Given the description of an element on the screen output the (x, y) to click on. 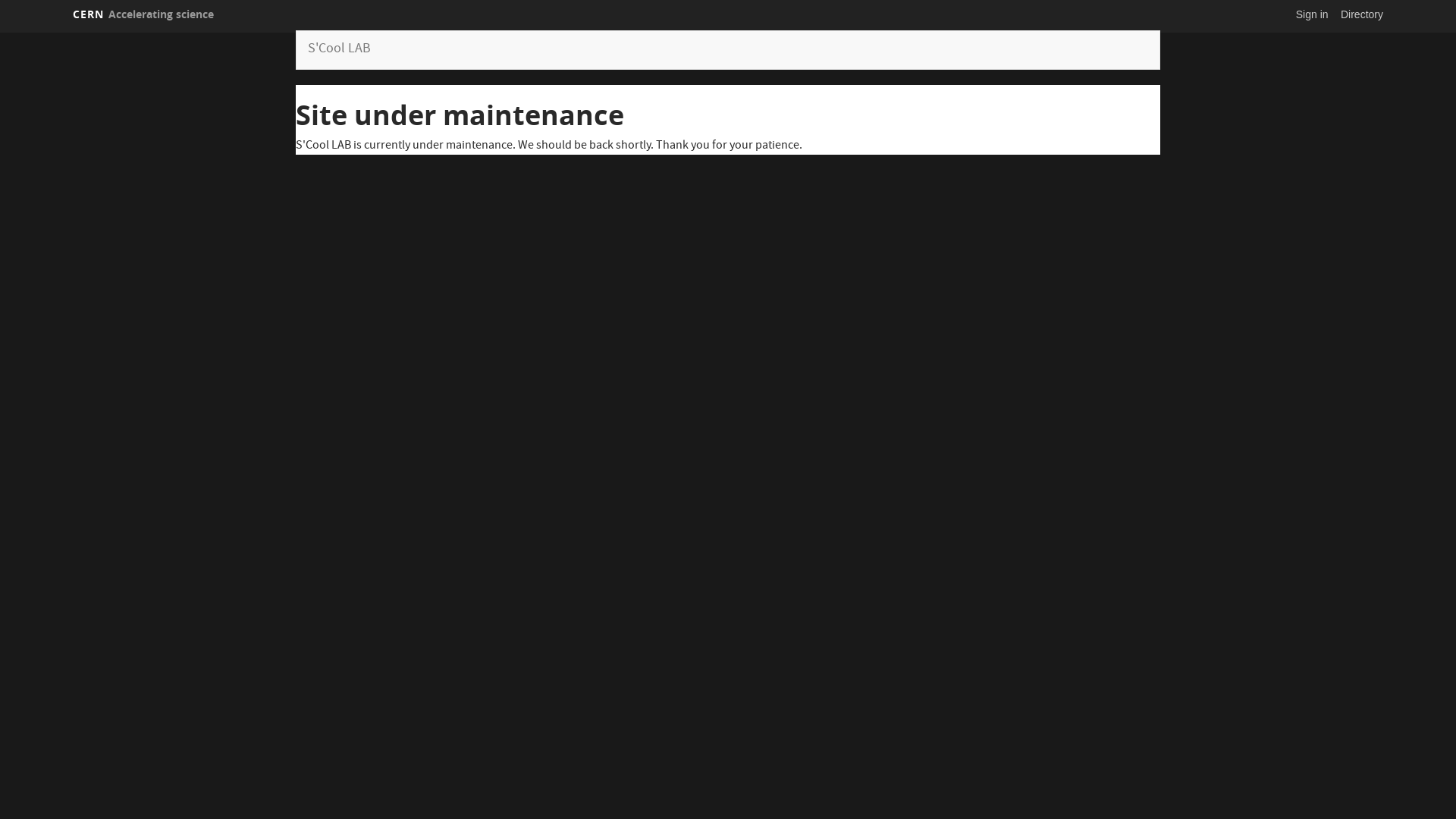
Skip to main content Element type: text (0, 30)
S'Cool LAB Element type: text (338, 50)
Sign in Element type: text (1311, 14)
Directory Element type: text (1361, 14)
CERN Accelerating science Element type: text (142, 14)
